Given the description of an element on the screen output the (x, y) to click on. 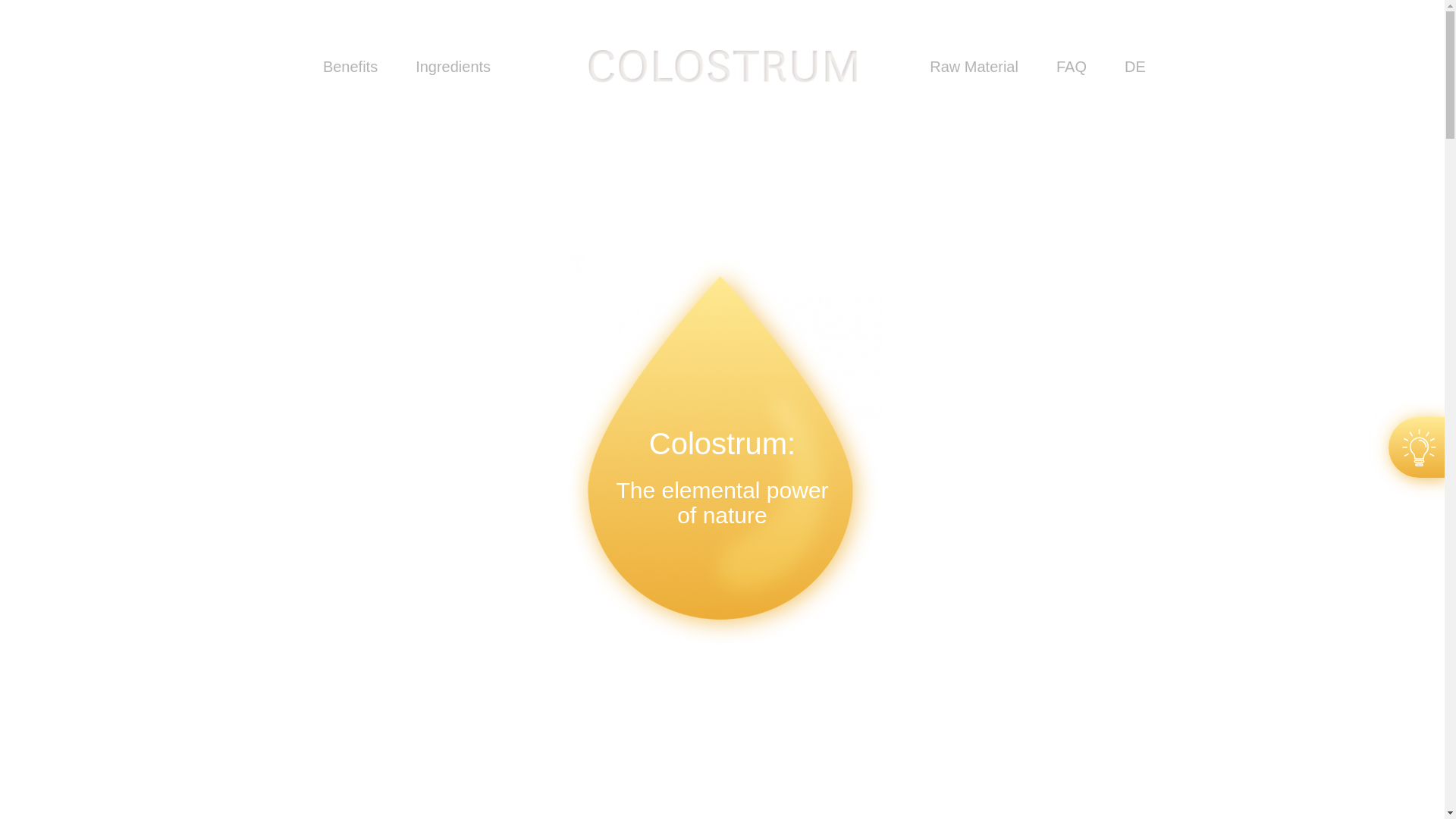
COLOSTRUM (722, 65)
Ingredients (452, 66)
Benefits (350, 66)
Raw Material (973, 66)
